Given the description of an element on the screen output the (x, y) to click on. 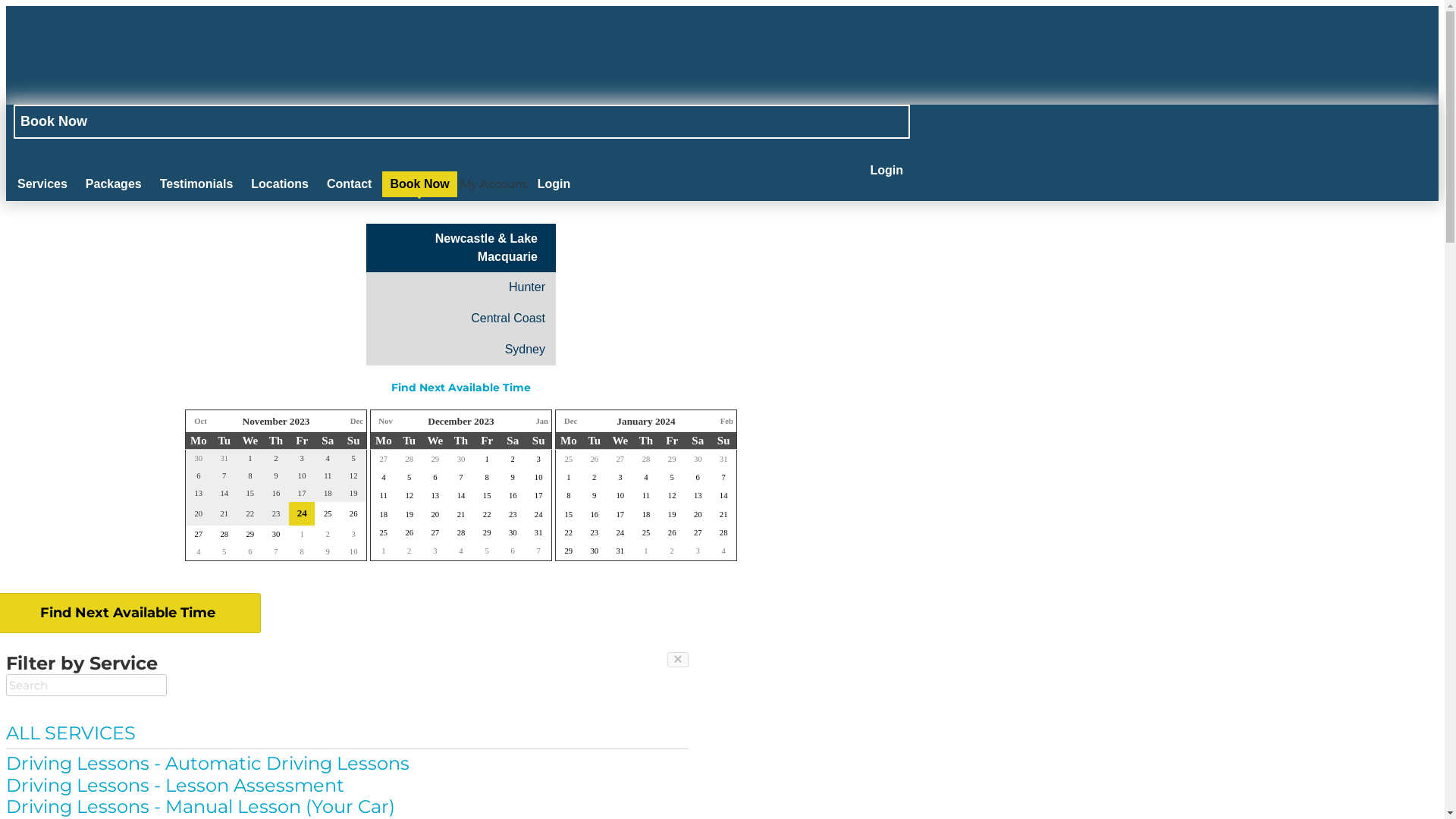
5 Element type: text (486, 550)
28 Element type: text (223, 534)
27 Element type: text (620, 459)
29 Element type: text (672, 459)
5 Element type: text (223, 551)
21 Element type: text (723, 514)
7 Element type: text (460, 477)
25 Element type: text (327, 513)
Central Coast Element type: text (460, 318)
Testimonials Element type: text (196, 184)
2 Element type: text (594, 477)
Dec Element type: text (356, 421)
Sydney Element type: text (460, 349)
15 Element type: text (568, 514)
5 Element type: text (671, 477)
8 Element type: text (486, 477)
31 Element type: text (538, 532)
26 Element type: text (408, 532)
10 Element type: text (353, 551)
Feb Element type: text (726, 421)
Contact Element type: text (349, 184)
30 Element type: text (276, 534)
10 Element type: text (620, 495)
Login Element type: text (554, 184)
Jan Element type: text (541, 421)
Login Element type: text (886, 170)
27 Element type: text (435, 532)
29 Element type: text (568, 550)
1 Element type: text (383, 550)
27 Element type: text (198, 534)
23 Element type: text (593, 532)
6 Element type: text (434, 477)
24 Element type: text (538, 514)
31 Element type: text (723, 459)
1 Element type: text (568, 477)
12 Element type: text (408, 495)
12 Element type: text (672, 495)
20 Element type: text (697, 514)
Locations Element type: text (279, 184)
17 Element type: text (620, 514)
30 Element type: text (512, 532)
2 Element type: text (327, 534)
8 Element type: text (568, 495)
Driving Lessons - Automatic Driving Lessons Element type: text (347, 764)
31 Element type: text (620, 550)
11 Element type: text (383, 495)
22 Element type: text (487, 514)
2 Element type: text (512, 459)
18 Element type: text (383, 514)
10 Element type: text (538, 477)
ALL SERVICES Element type: text (347, 733)
19 Element type: text (672, 514)
21 Element type: text (461, 514)
Packages Element type: text (113, 184)
4 Element type: text (645, 477)
4 Element type: text (723, 550)
29 Element type: text (435, 459)
9 Element type: text (594, 495)
26 Element type: text (672, 532)
3 Element type: text (353, 534)
23 Element type: text (512, 514)
9 Element type: text (327, 551)
Hunter Element type: text (460, 287)
29 Element type: text (250, 534)
15 Element type: text (487, 495)
14 Element type: text (461, 495)
Dec Element type: text (570, 421)
30 Element type: text (593, 550)
27 Element type: text (697, 532)
28 Element type: text (646, 459)
Oct Element type: text (200, 421)
13 Element type: text (435, 495)
3 Element type: text (619, 477)
4 Element type: text (383, 477)
9 Element type: text (512, 477)
25 Element type: text (646, 532)
1 Element type: text (645, 550)
4 Element type: text (460, 550)
3 Element type: text (697, 550)
29 Element type: text (487, 532)
1 Element type: text (486, 459)
25 Element type: text (568, 459)
Book Now Element type: text (461, 121)
2 Element type: text (409, 550)
11 Element type: text (645, 495)
30 Element type: text (461, 459)
30 Element type: text (697, 459)
Find Next Available Time Element type: text (460, 387)
7 Element type: text (723, 477)
Driving Lessons - Manual Lesson (Your Car) Element type: text (347, 807)
1 Element type: text (301, 534)
26 Element type: text (593, 459)
Services Element type: text (42, 184)
25 Element type: text (383, 532)
20 Element type: text (435, 514)
7 Element type: text (275, 551)
Book Now Element type: text (419, 184)
17 Element type: text (538, 495)
22 Element type: text (568, 532)
3 Element type: text (538, 459)
Nov Element type: text (385, 421)
14 Element type: text (723, 495)
28 Element type: text (723, 532)
3 Element type: text (434, 550)
6 Element type: text (512, 550)
19 Element type: text (408, 514)
28 Element type: text (408, 459)
27 Element type: text (383, 459)
6 Element type: text (697, 477)
16 Element type: text (512, 495)
4 Element type: text (198, 551)
Driving Lessons - Lesson Assessment Element type: text (347, 786)
5 Element type: text (409, 477)
8 Element type: text (301, 551)
16 Element type: text (593, 514)
Newcastle & Lake Macquarie Element type: text (457, 247)
26 Element type: text (353, 513)
18 Element type: text (646, 514)
24 Element type: text (302, 512)
13 Element type: text (697, 495)
6 Element type: text (249, 551)
24 Element type: text (620, 532)
7 Element type: text (538, 550)
2 Element type: text (671, 550)
28 Element type: text (461, 532)
